Given the description of an element on the screen output the (x, y) to click on. 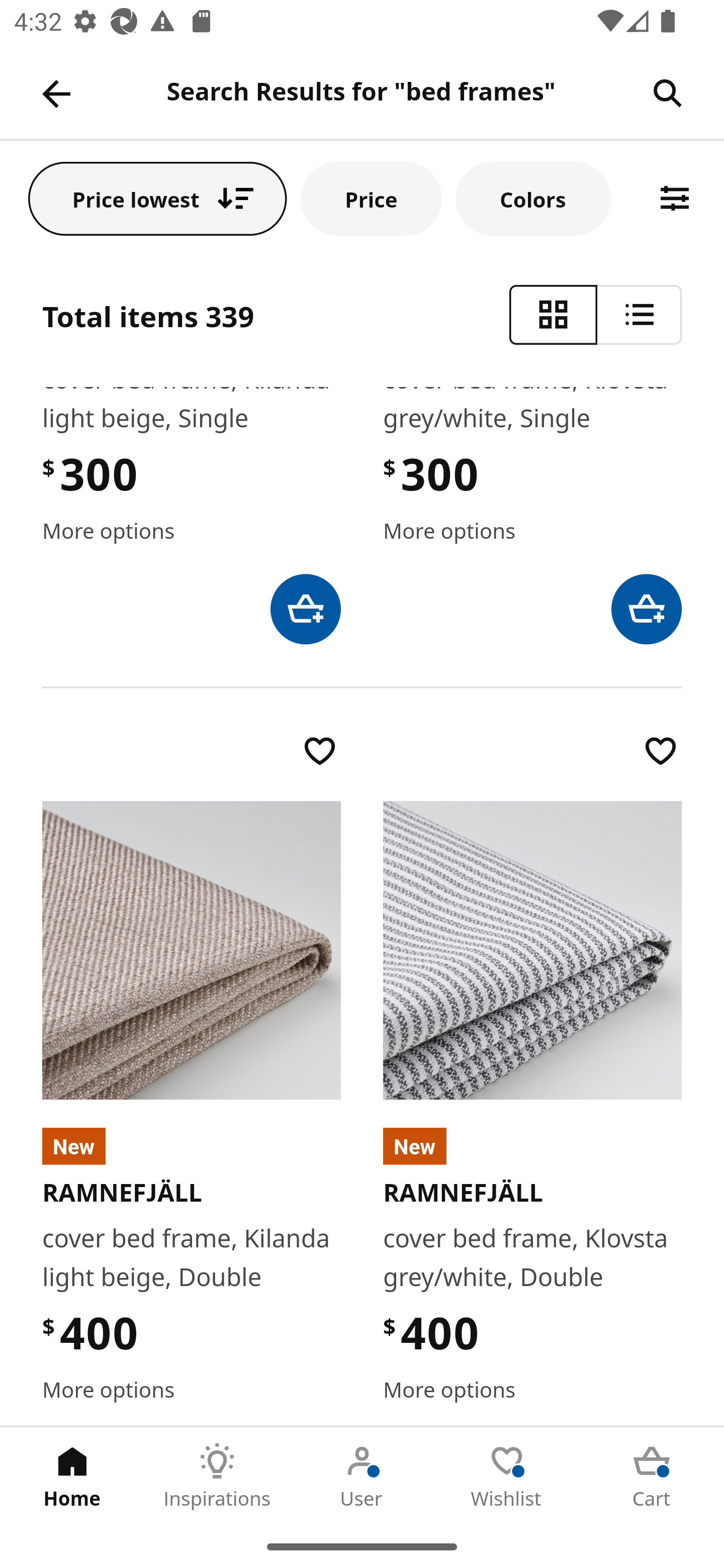
Price lowest (157, 198)
Price (371, 198)
Colors (533, 198)
Home
Tab 1 of 5 (72, 1476)
Inspirations
Tab 2 of 5 (216, 1476)
User
Tab 3 of 5 (361, 1476)
Wishlist
Tab 4 of 5 (506, 1476)
Cart
Tab 5 of 5 (651, 1476)
